Given the description of an element on the screen output the (x, y) to click on. 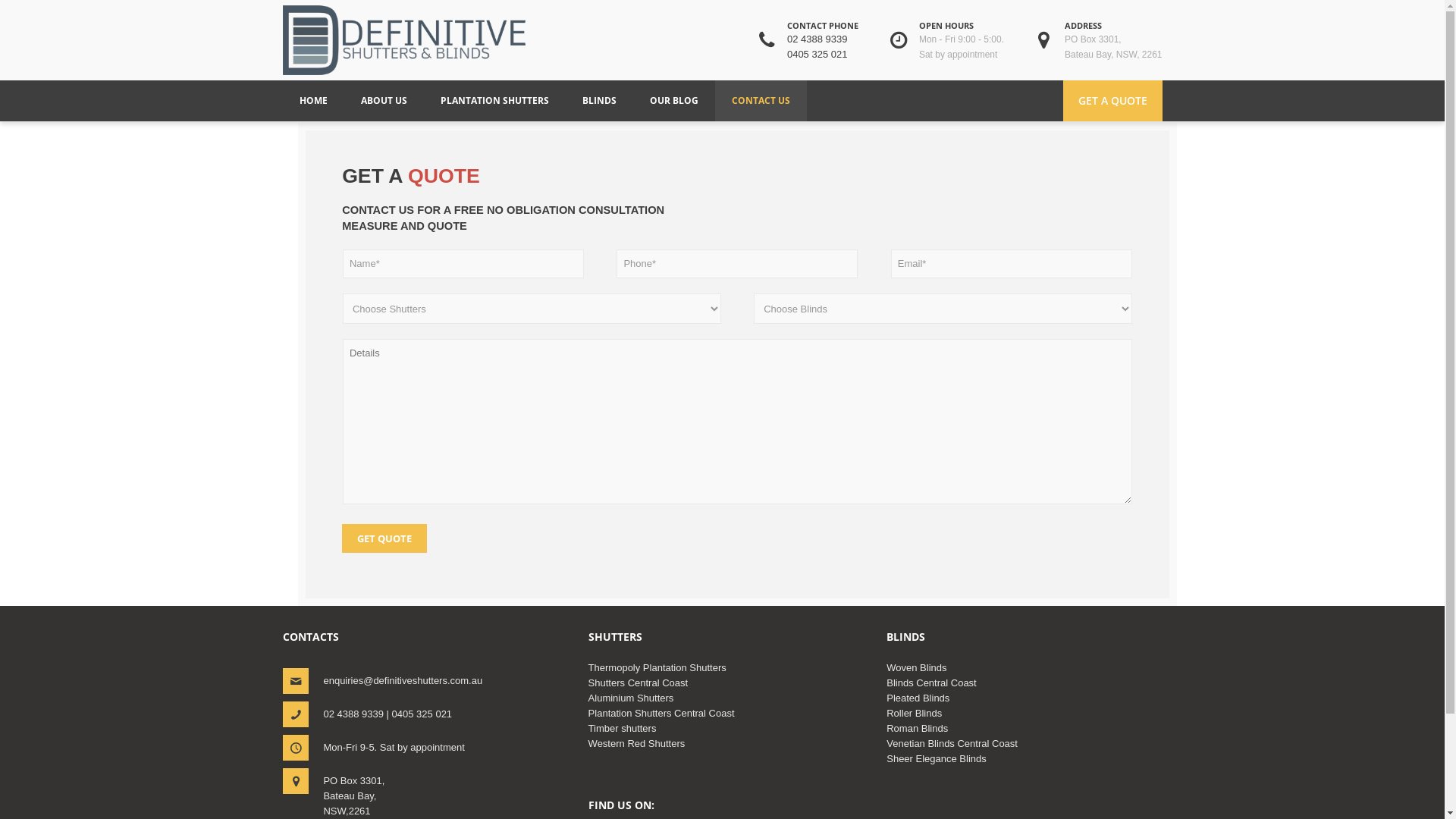
Blinds Central Coast Element type: text (931, 682)
CONTACT US Element type: text (760, 100)
PLANTATION SHUTTERS Element type: text (493, 100)
Western Red Shutters Element type: text (636, 743)
GET A QUOTE Element type: text (1112, 100)
HOME Element type: text (1115, 74)
Thermopoly Plantation Shutters Element type: text (657, 667)
Timber shutters Element type: text (622, 728)
enquiries@definitiveshutters.com.au Element type: text (402, 680)
Pleated Blinds Element type: text (917, 697)
BLINDS Element type: text (599, 100)
Sheer Elegance Blinds Element type: text (936, 758)
0405 325 021 Element type: text (817, 53)
ABOUT US Element type: text (383, 100)
OUR BLOG Element type: text (673, 100)
Venetian Blinds Central Coast Element type: text (951, 743)
Shutters Central Coast Element type: text (638, 682)
02 4388 9339 Element type: text (817, 38)
Roller Blinds Element type: text (913, 712)
Plantation Shutters Central Coast Element type: text (661, 712)
Roman Blinds Element type: text (916, 728)
Woven Blinds Element type: text (916, 667)
Aluminium Shutters Element type: text (631, 697)
Get Quote Element type: text (384, 538)
HOME Element type: text (312, 100)
